Given the description of an element on the screen output the (x, y) to click on. 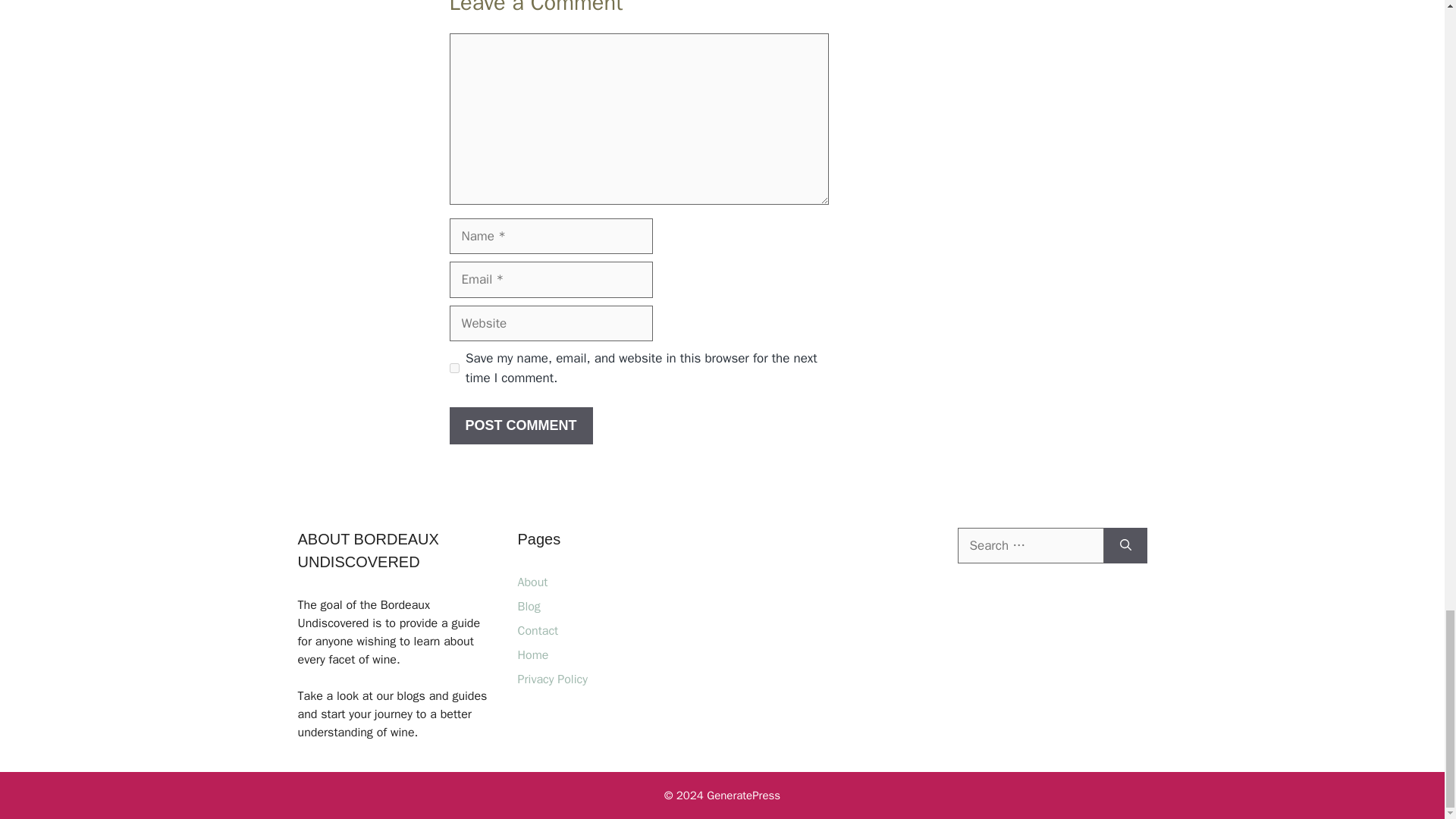
Contact (536, 630)
Search for: (1029, 545)
About (531, 581)
Post Comment (520, 425)
Post Comment (520, 425)
Blog (528, 606)
yes (453, 368)
Privacy Policy (551, 679)
Home (532, 654)
